Given the description of an element on the screen output the (x, y) to click on. 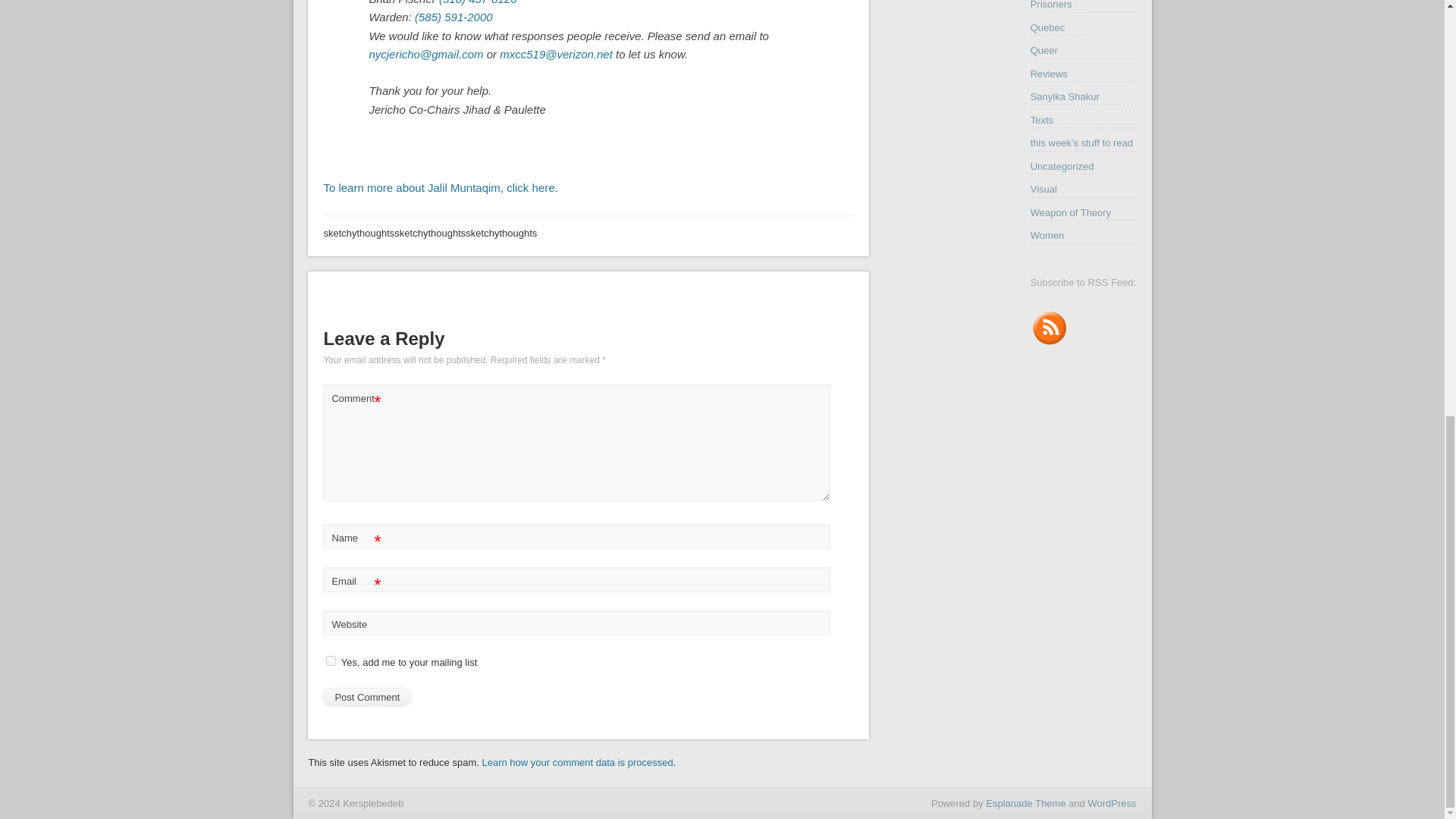
1 (331, 660)
WordPress (1111, 803)
Esplanade Theme (1025, 803)
RSS 2.0 Feed (1049, 342)
Post Comment (366, 696)
